Given the description of an element on the screen output the (x, y) to click on. 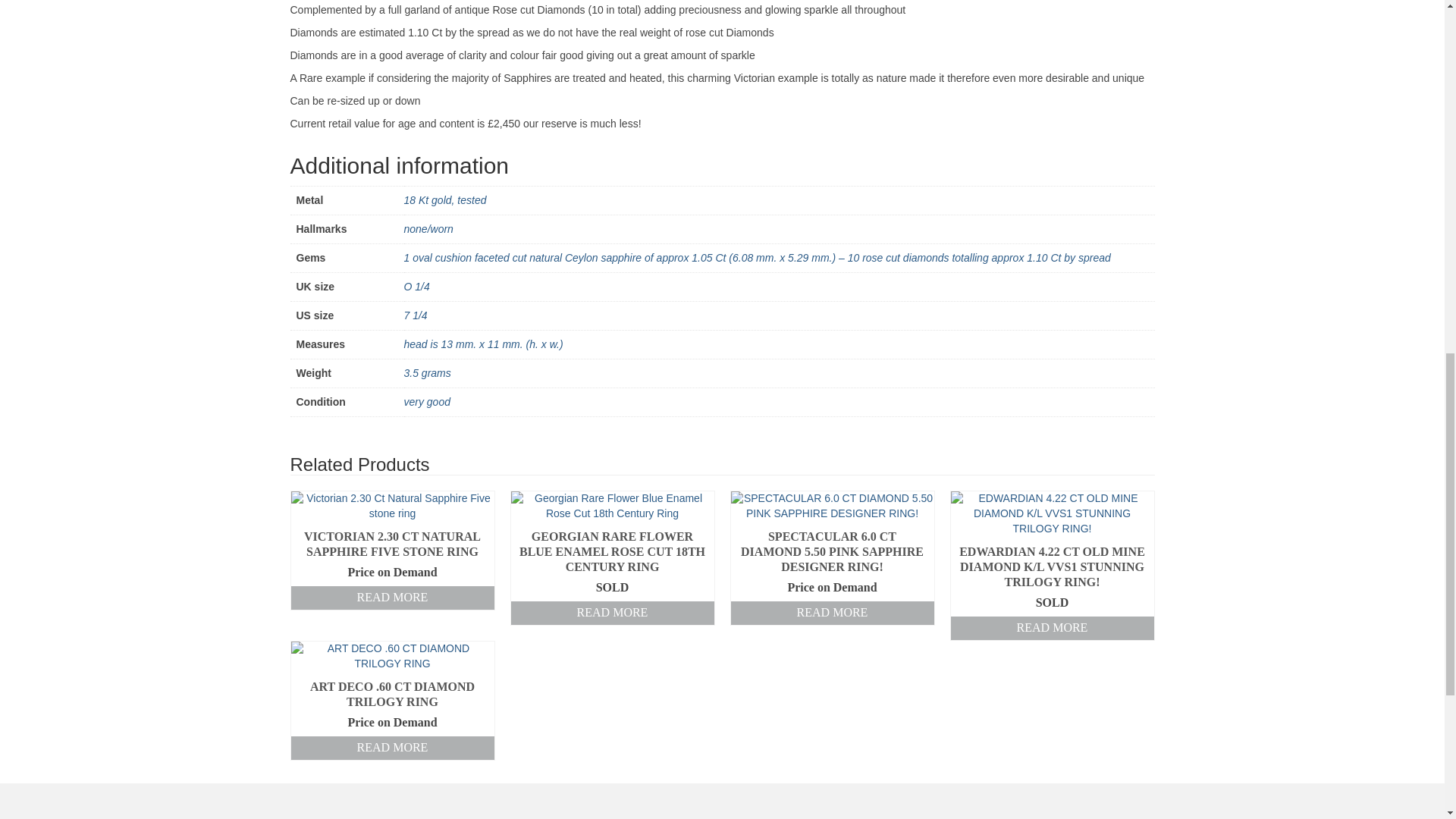
18 Kt gold, tested (444, 200)
